Given the description of an element on the screen output the (x, y) to click on. 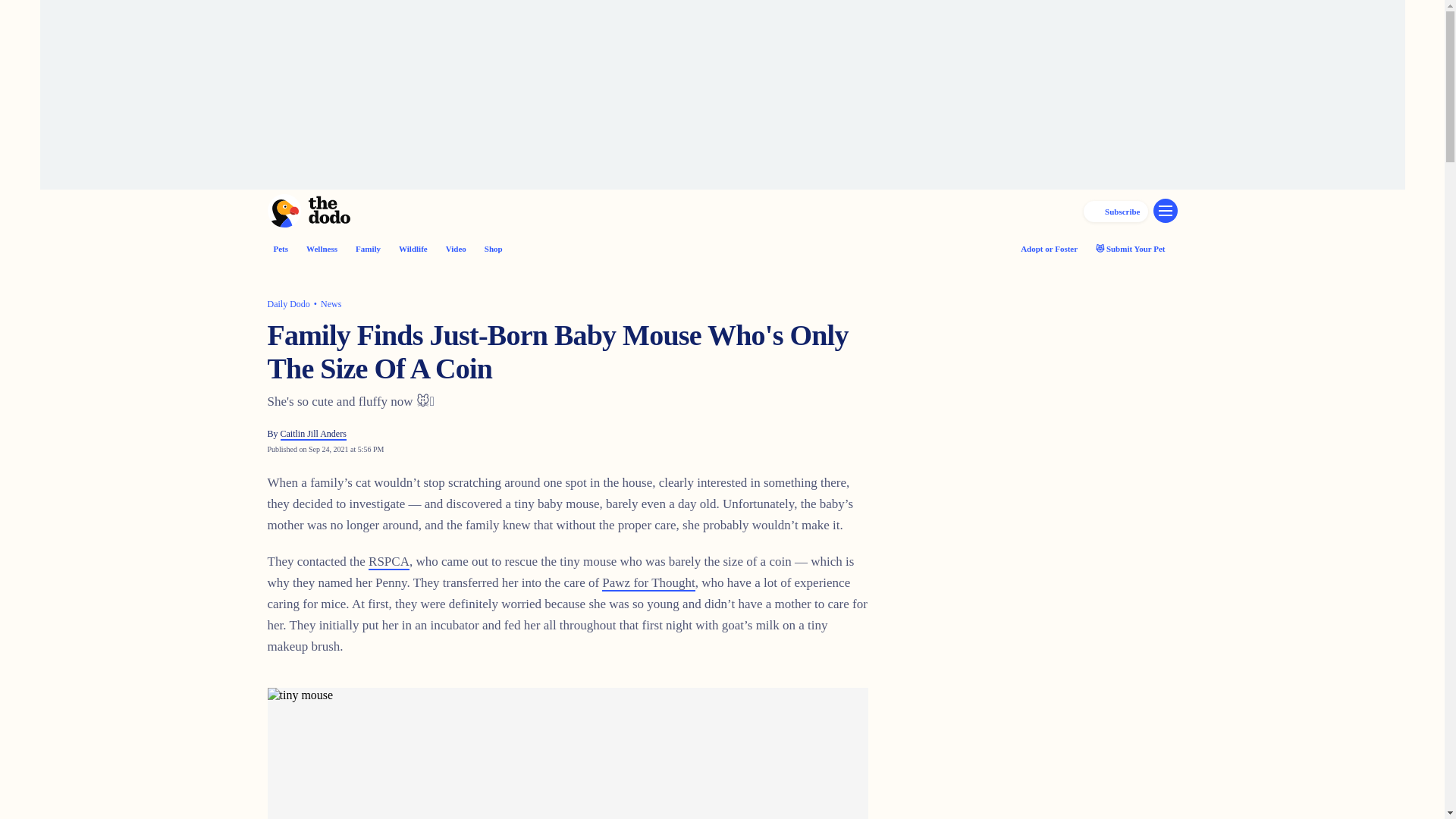
Pawz for Thought (648, 583)
Daily Dodo (287, 303)
Family (367, 248)
The Dodo (307, 210)
Pets (280, 248)
Caitlin Jill Anders (313, 434)
Wellness (321, 248)
News (330, 303)
Video (455, 248)
